Given the description of an element on the screen output the (x, y) to click on. 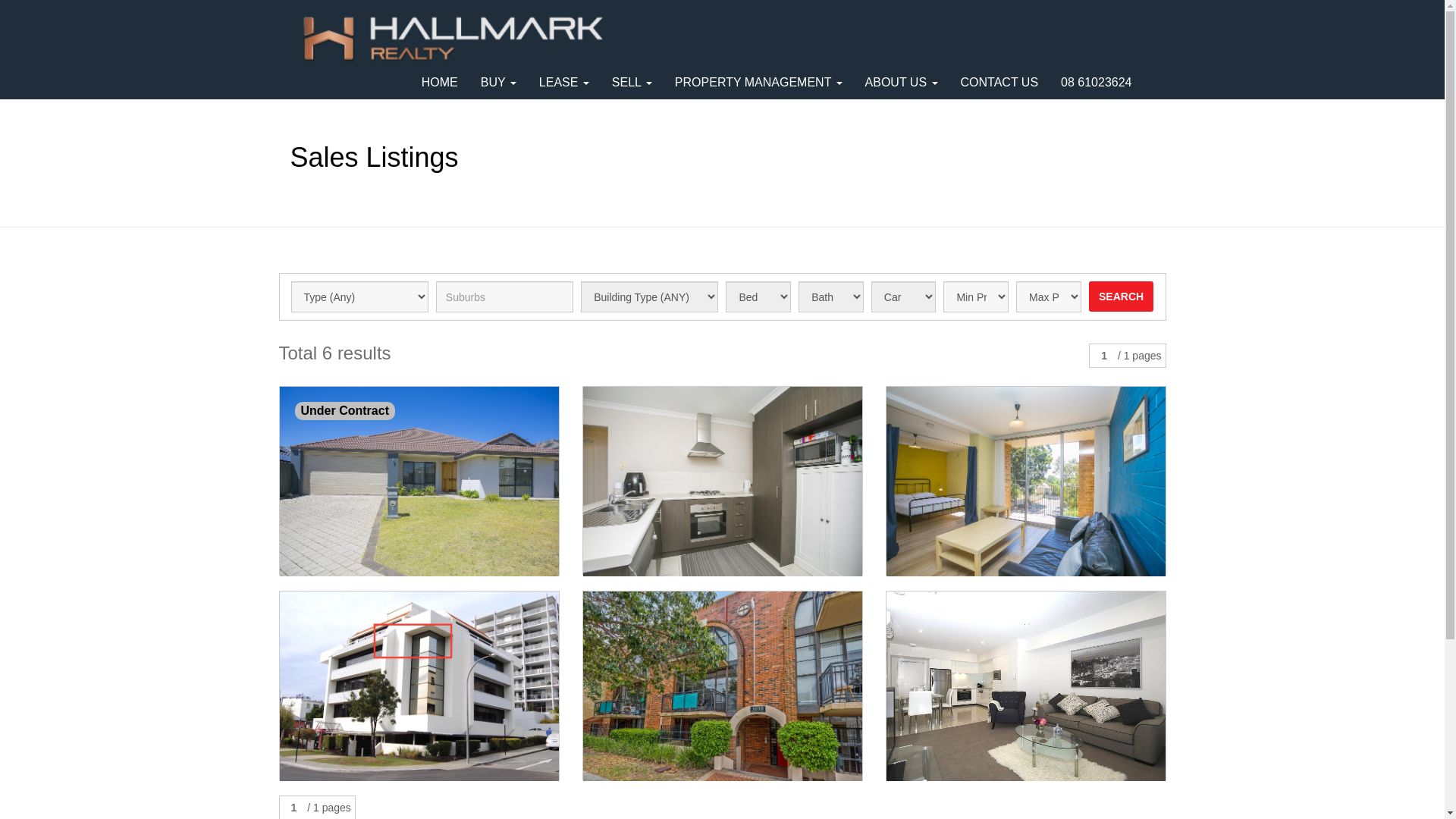
08 61023624 Element type: text (1095, 82)
PROPERTY MANAGEMENT Element type: text (758, 82)
SELL Element type: text (631, 82)
CONTACT US Element type: text (999, 82)
BUY Element type: text (498, 82)
SEARCH Element type: text (1121, 296)
ABOUT US Element type: text (901, 82)
LEASE Element type: text (563, 82)
Under Contract Element type: text (418, 480)
<< Element type: text (12, 9)
HOME Element type: text (439, 82)
